Given the description of an element on the screen output the (x, y) to click on. 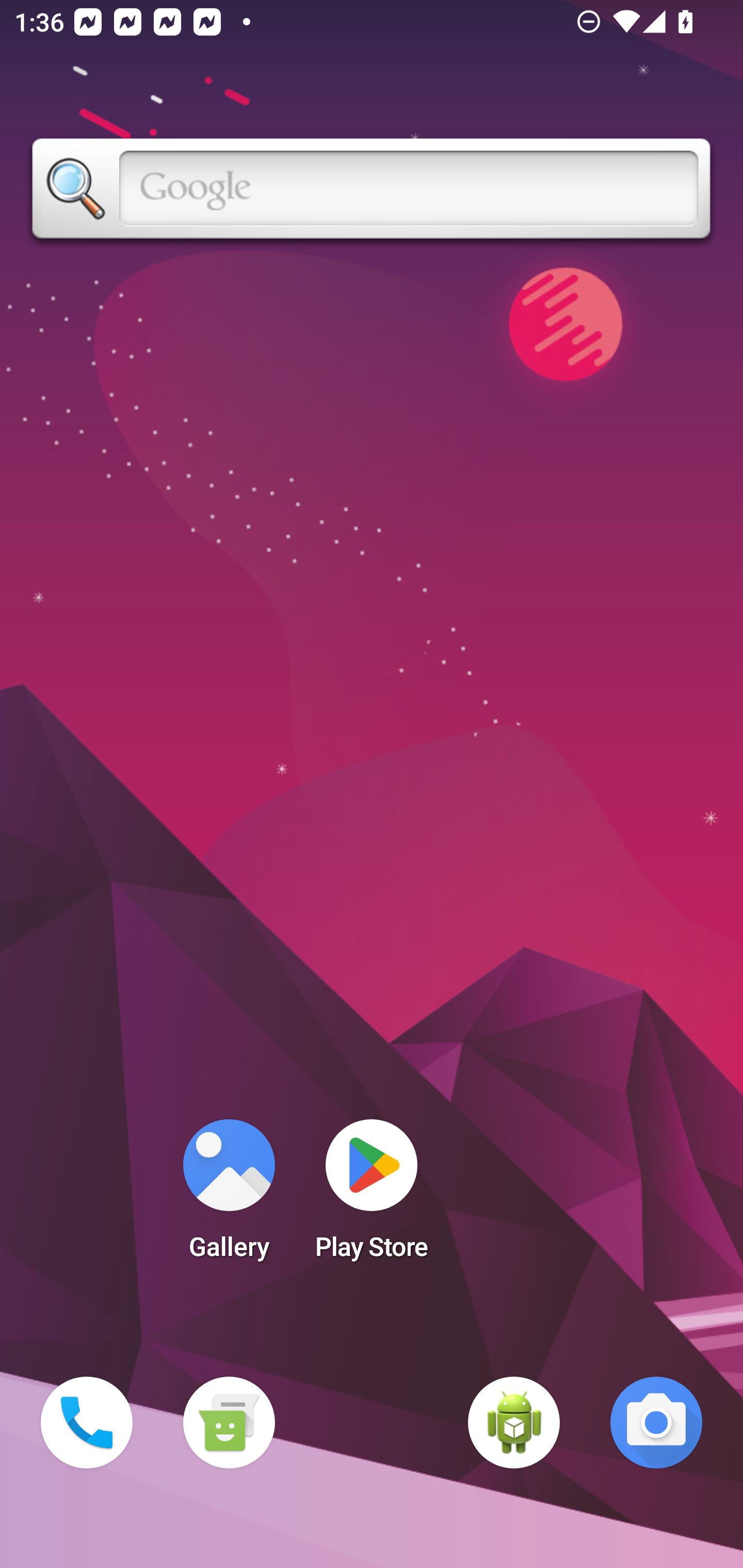
Gallery (228, 1195)
Play Store (371, 1195)
Phone (86, 1422)
Messaging (228, 1422)
WebView Browser Tester (513, 1422)
Camera (656, 1422)
